Given the description of an element on the screen output the (x, y) to click on. 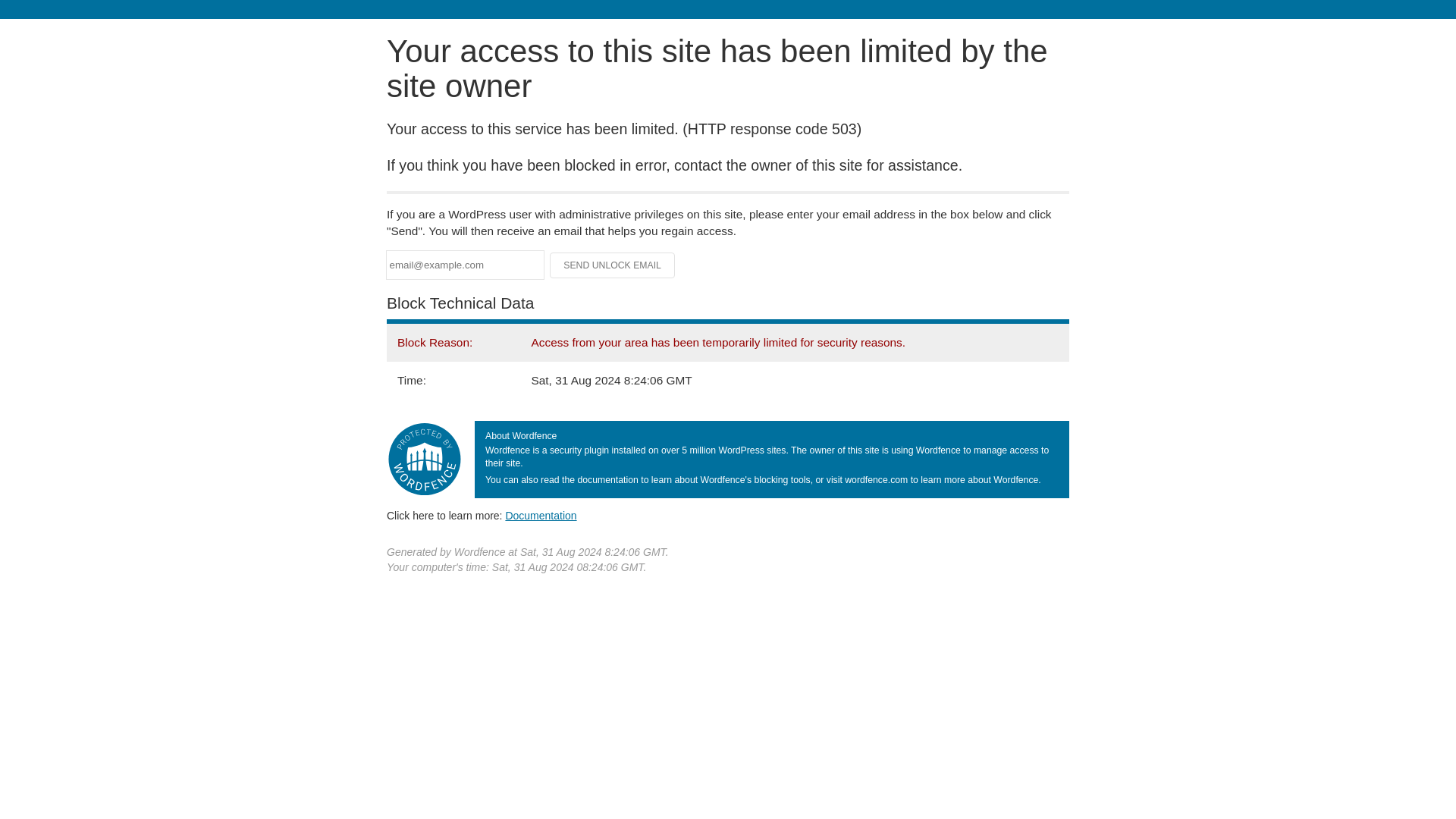
Documentation (540, 515)
Send Unlock Email (612, 265)
Send Unlock Email (612, 265)
